Given the description of an element on the screen output the (x, y) to click on. 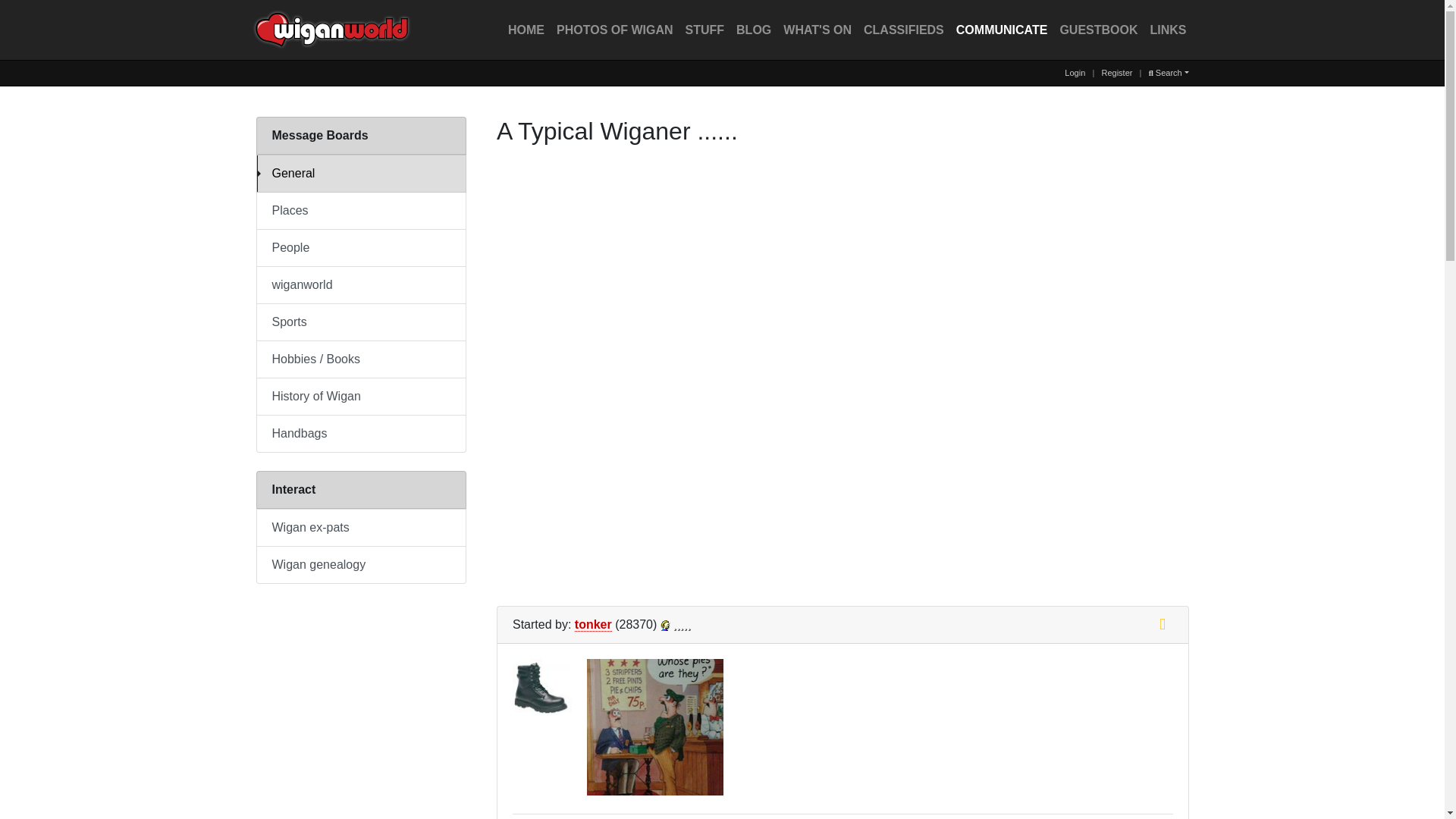
Wigan genealogy (361, 564)
Places (361, 211)
Sports (361, 321)
GUESTBOOK (1097, 30)
CLASSIFIEDS (903, 30)
Register (1116, 71)
HOME (526, 30)
Search (1168, 71)
PHOTOS OF WIGAN (614, 30)
LINKS (1167, 30)
COMMUNICATE (1002, 30)
General (361, 173)
wiganworld (361, 284)
View tonker's page (665, 624)
